Given the description of an element on the screen output the (x, y) to click on. 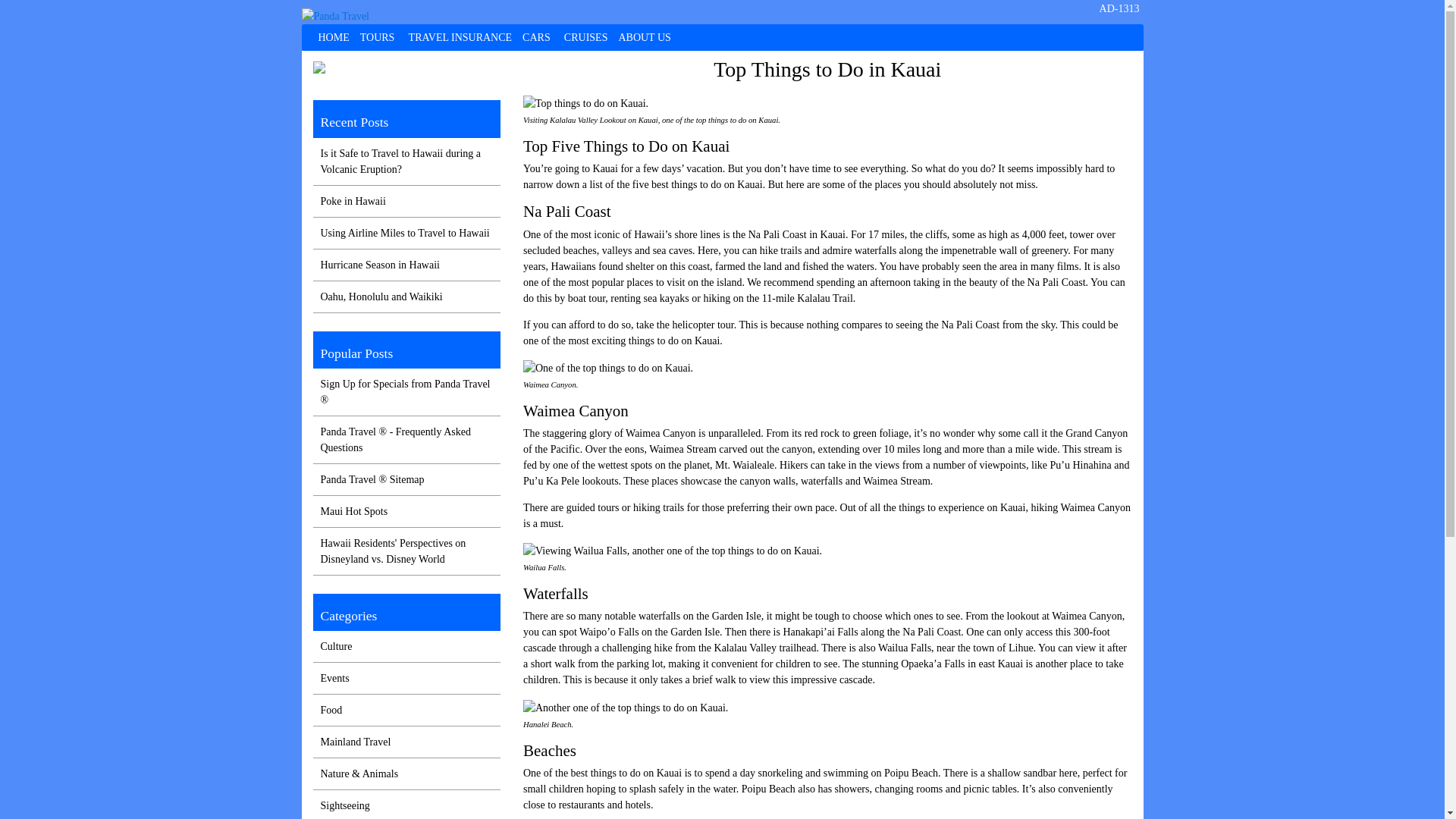
Events (334, 677)
Maui Hot Spots (353, 511)
Using Airline Miles to Travel to Hawaii (404, 233)
Oahu, Honolulu and Waikiki (381, 296)
Sightseeing (344, 805)
HOME (333, 37)
ABOUT US (643, 37)
CARS (537, 37)
Food (331, 709)
